Given the description of an element on the screen output the (x, y) to click on. 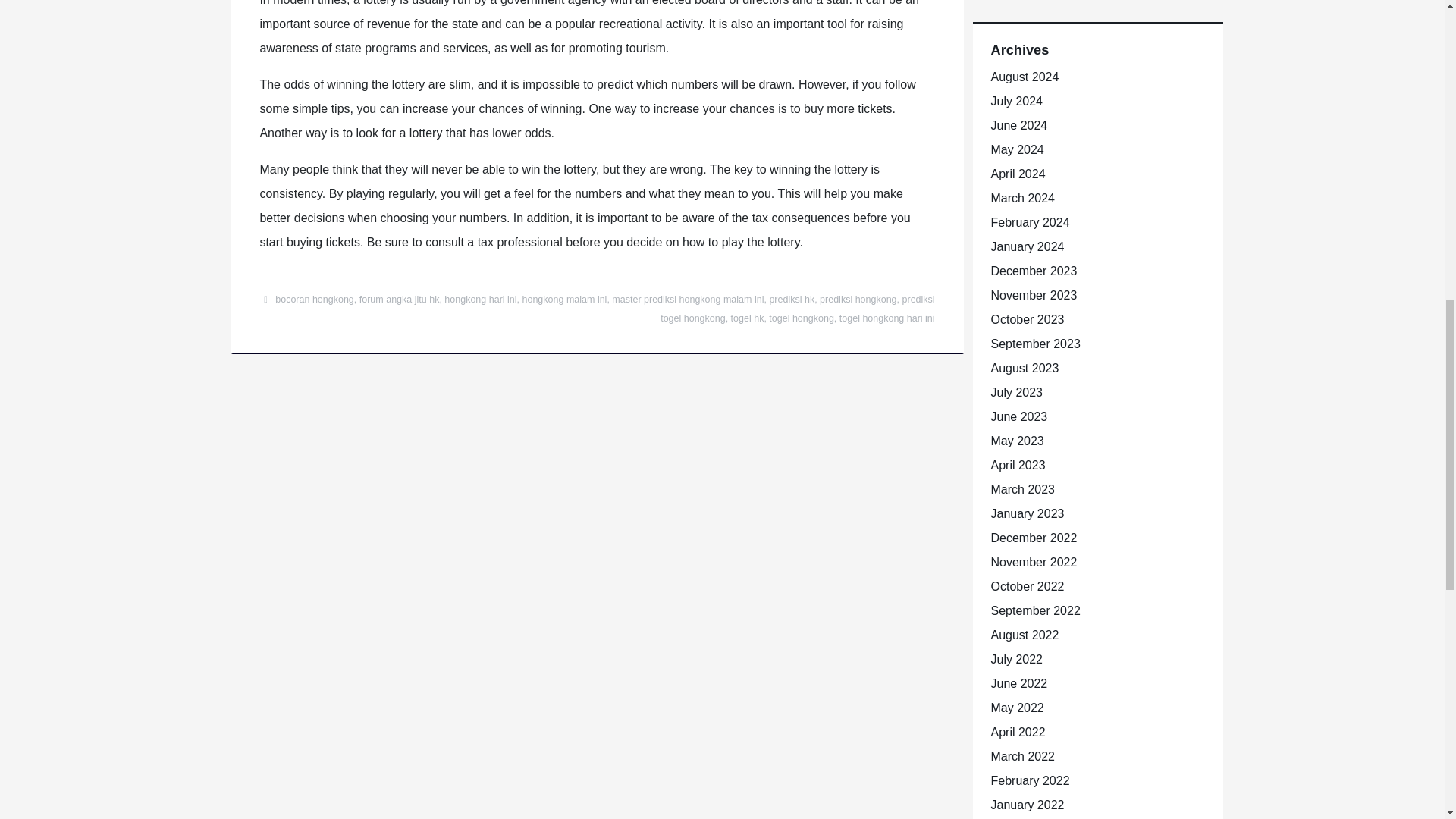
May 2024 (1016, 148)
July 2023 (1016, 391)
October 2023 (1027, 318)
February 2024 (1029, 221)
January 2024 (1027, 245)
master prediksi hongkong malam ini (686, 299)
November 2023 (1033, 294)
togel hongkong hari ini (887, 317)
togel hk (747, 317)
August 2023 (1024, 367)
